Given the description of an element on the screen output the (x, y) to click on. 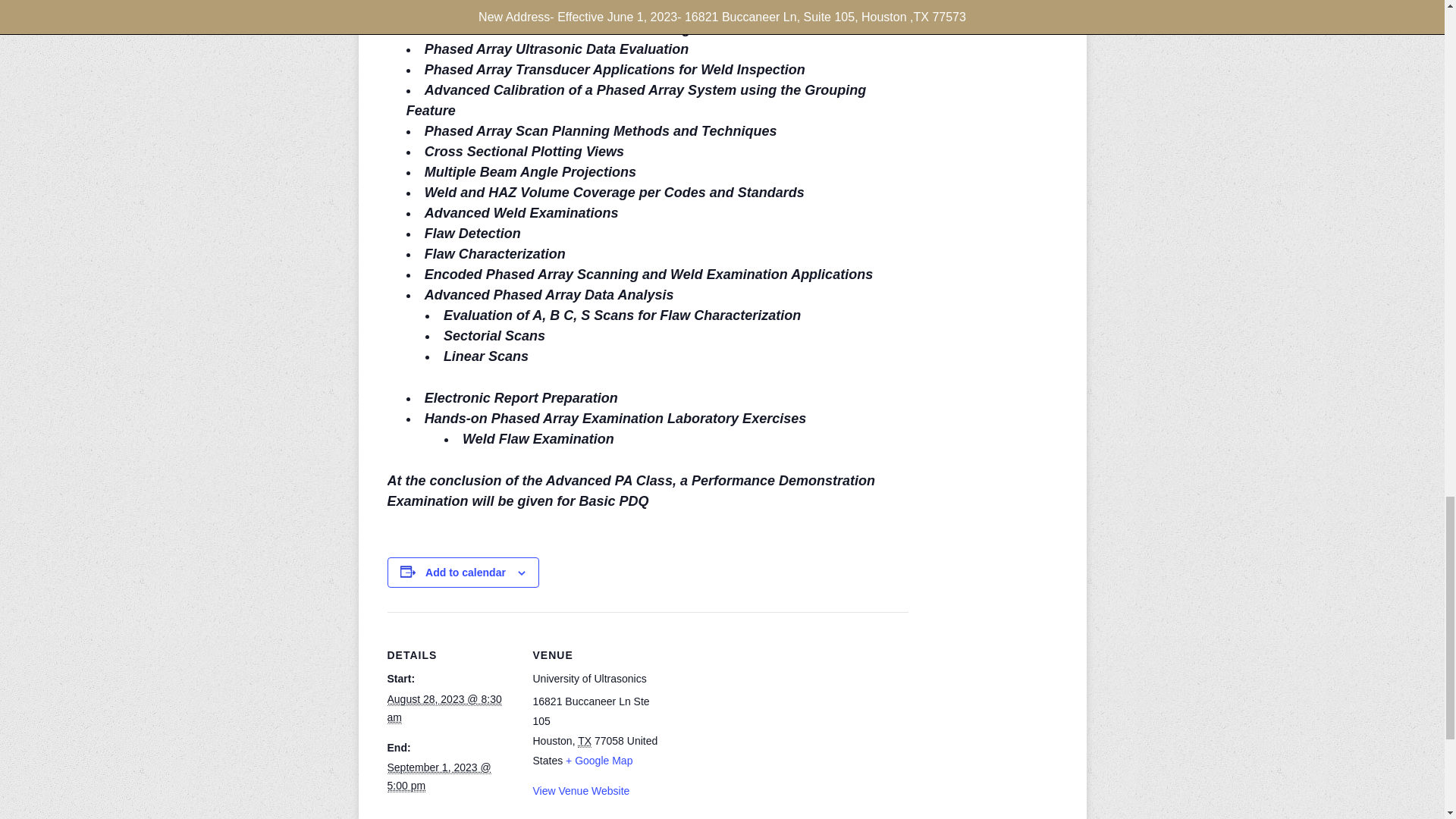
Texas (584, 740)
2023-08-28 (443, 707)
2023-09-01 (438, 776)
Add to calendar (465, 572)
Click to view a Google Map (598, 760)
View Venue Website (580, 790)
